Given the description of an element on the screen output the (x, y) to click on. 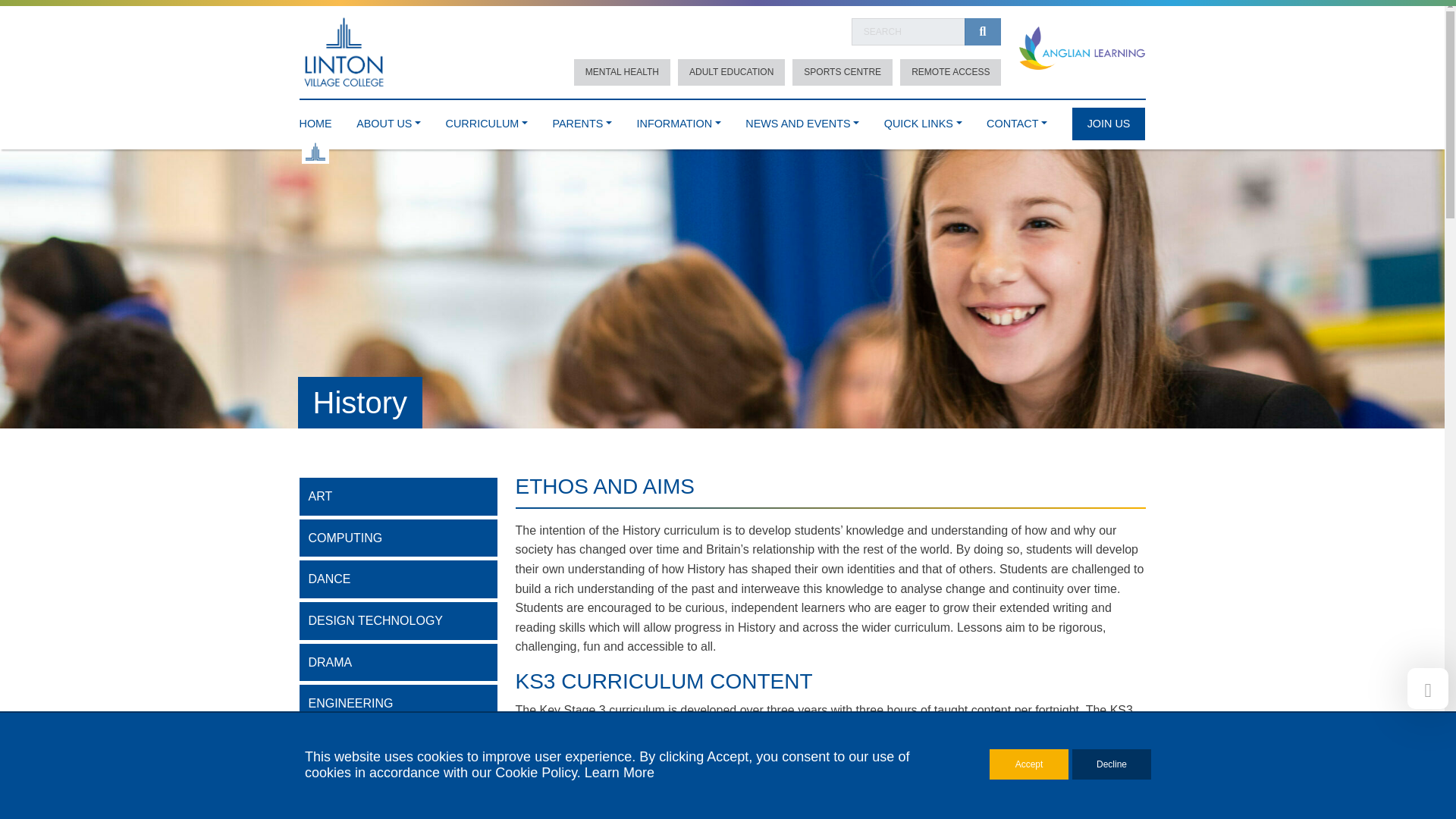
REMOTE ACCESS (950, 71)
A JavaScript library for interactive maps (1123, 714)
Anglian Learning (1081, 47)
Zoom out (895, 573)
MENTAL HEALTH (621, 71)
HOME (314, 119)
Zoom in (895, 550)
ABOUT US (388, 119)
SPORTS CENTRE (842, 71)
CURRICULUM (486, 119)
ADULT EDUCATION (731, 71)
PARENTS (581, 119)
